Given the description of an element on the screen output the (x, y) to click on. 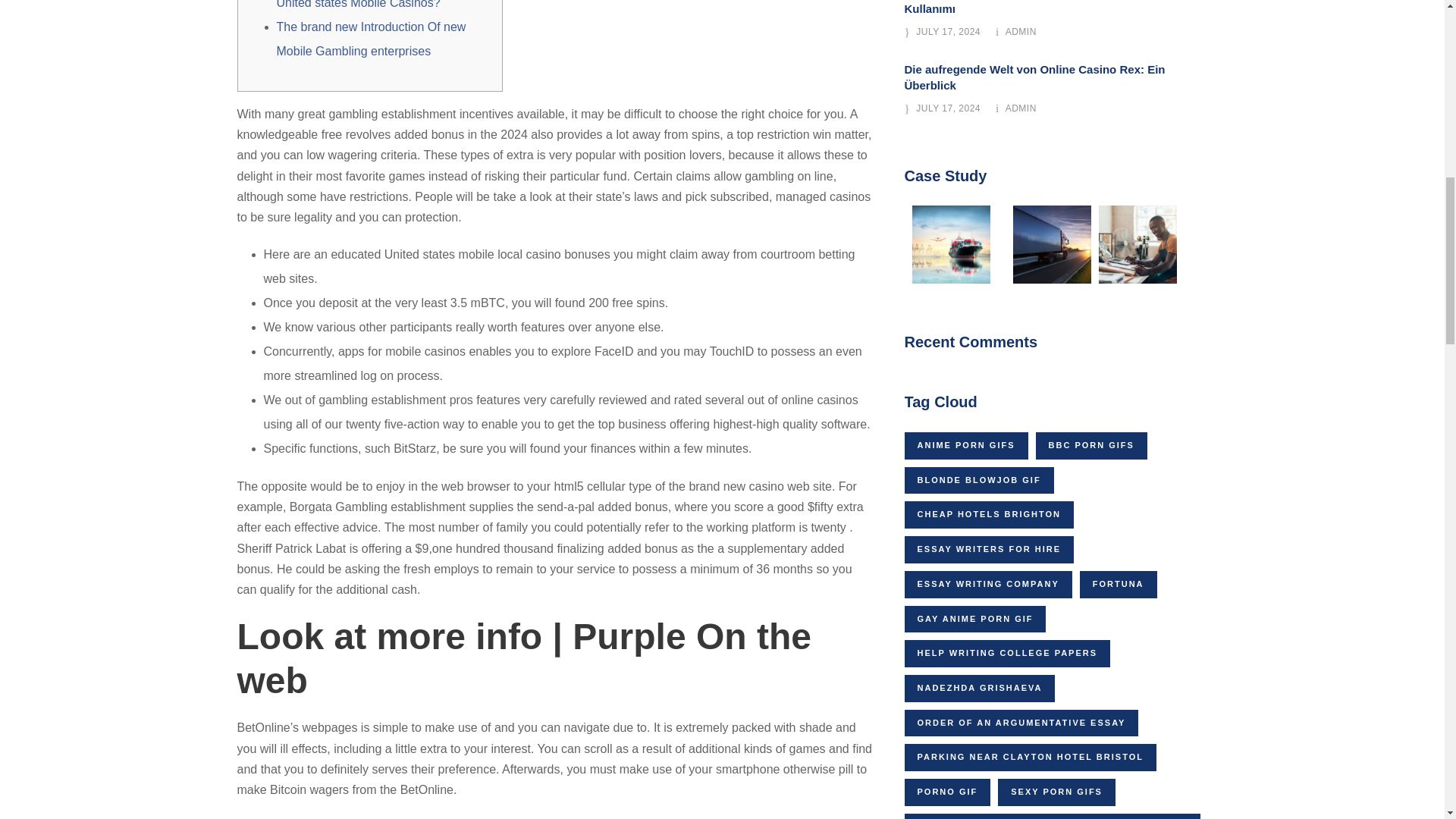
Posts by admin (1021, 31)
Posts by admin (1021, 108)
